Given the description of an element on the screen output the (x, y) to click on. 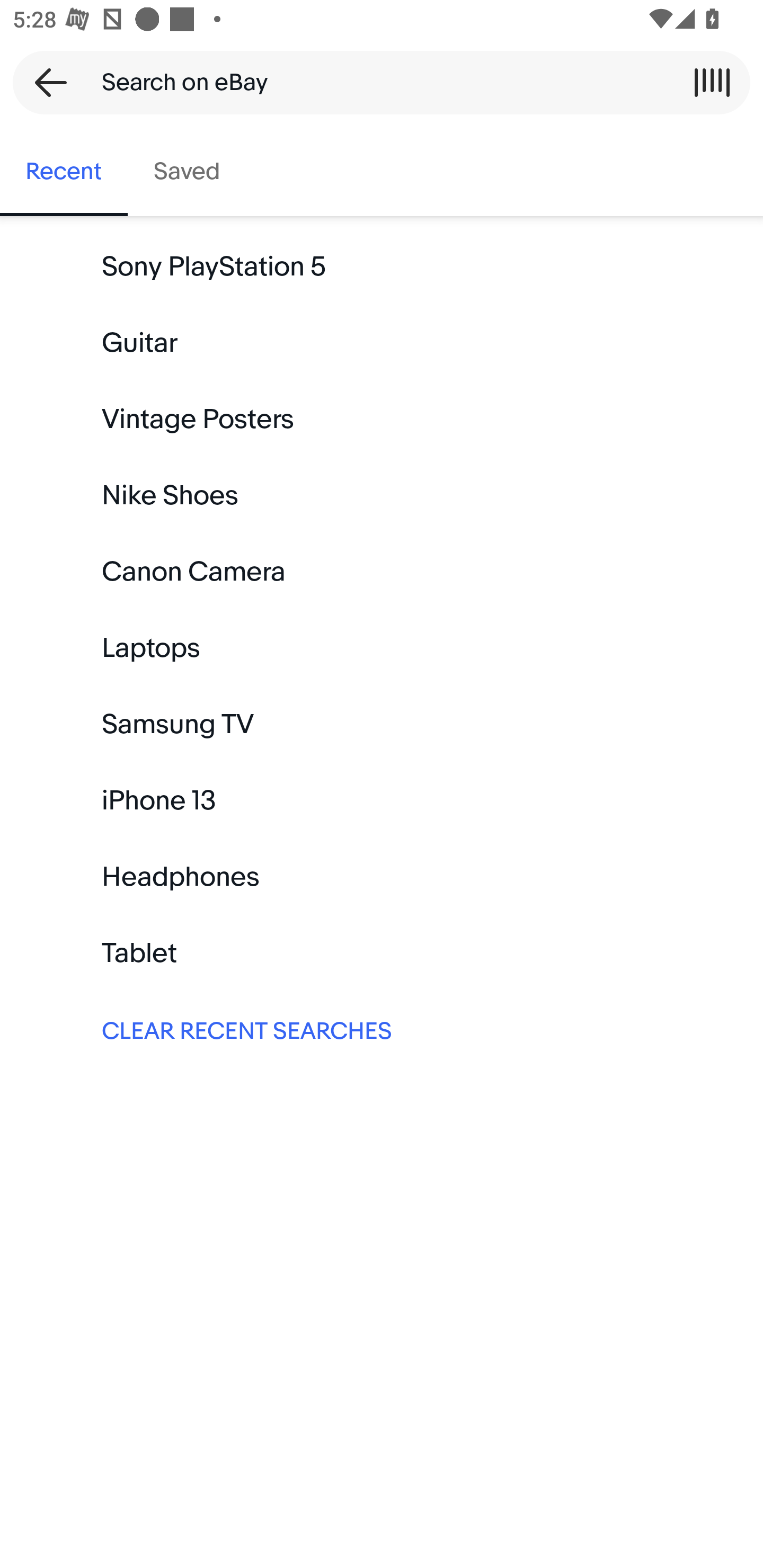
Back (44, 82)
Scan a barcode (711, 82)
Search on eBay (375, 82)
Saved, tab 2 of 2 Saved (186, 171)
Guitar Keyword search Guitar: (381, 343)
Vintage Posters Keyword search Vintage Posters: (381, 419)
Nike Shoes Keyword search Nike Shoes: (381, 495)
Canon Camera Keyword search Canon Camera: (381, 571)
Laptops Keyword search Laptops: (381, 647)
Samsung TV Keyword search Samsung TV: (381, 724)
iPhone 13 Keyword search iPhone 13: (381, 800)
Headphones Keyword search Headphones: (381, 876)
Tablet Keyword search Tablet: (381, 952)
CLEAR RECENT SEARCHES (381, 1028)
